Given the description of an element on the screen output the (x, y) to click on. 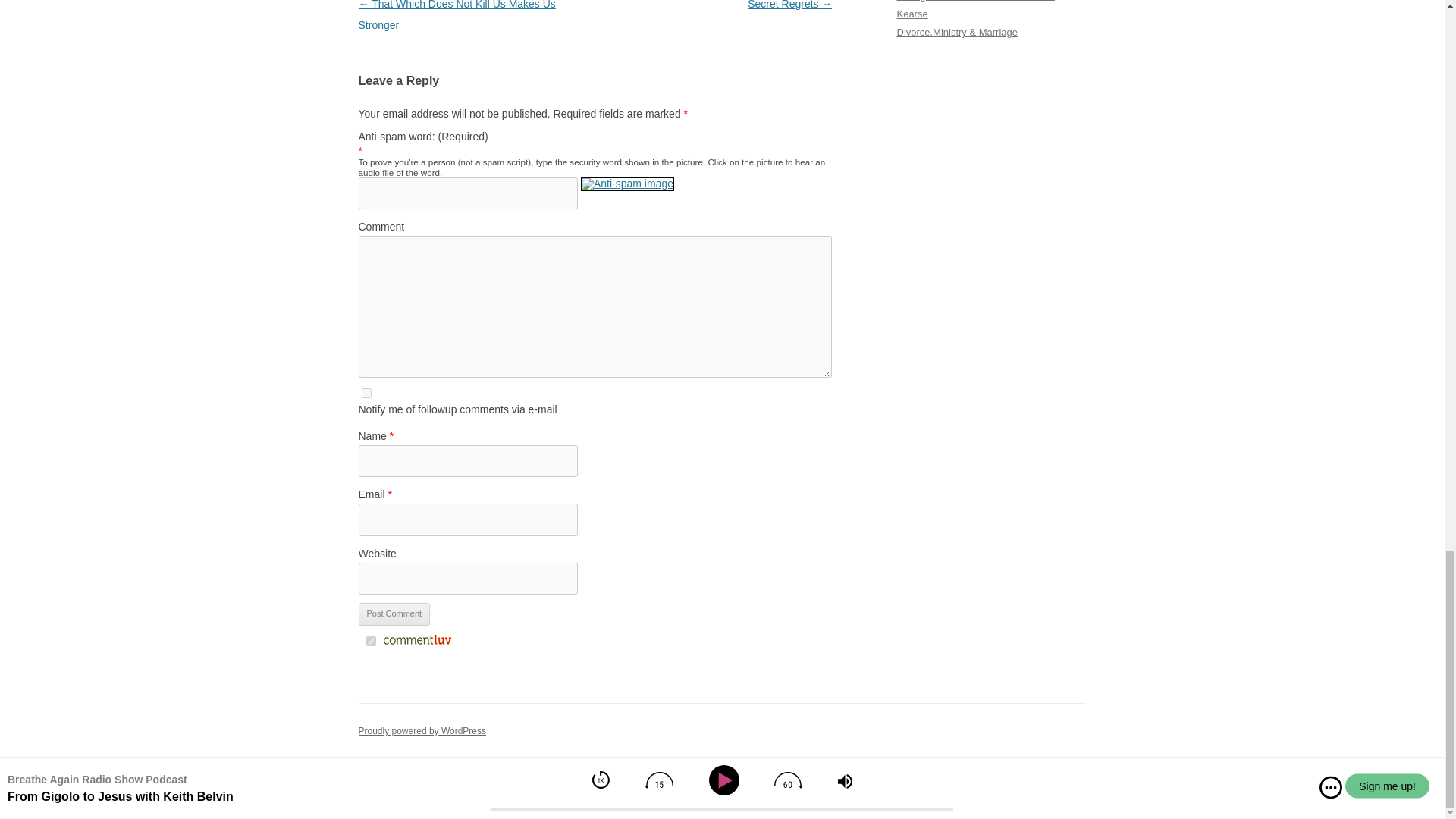
Proudly powered by WordPress (422, 730)
Loving a Broken Woman with Calvin Kearse (975, 9)
on (370, 641)
subscribe (366, 393)
CommentLuv is enabled (416, 642)
Click to hear an audio file of the anti-spam word (627, 192)
Post Comment (393, 613)
Post Comment (393, 613)
Semantic Personal Publishing Platform (422, 730)
